Given the description of an element on the screen output the (x, y) to click on. 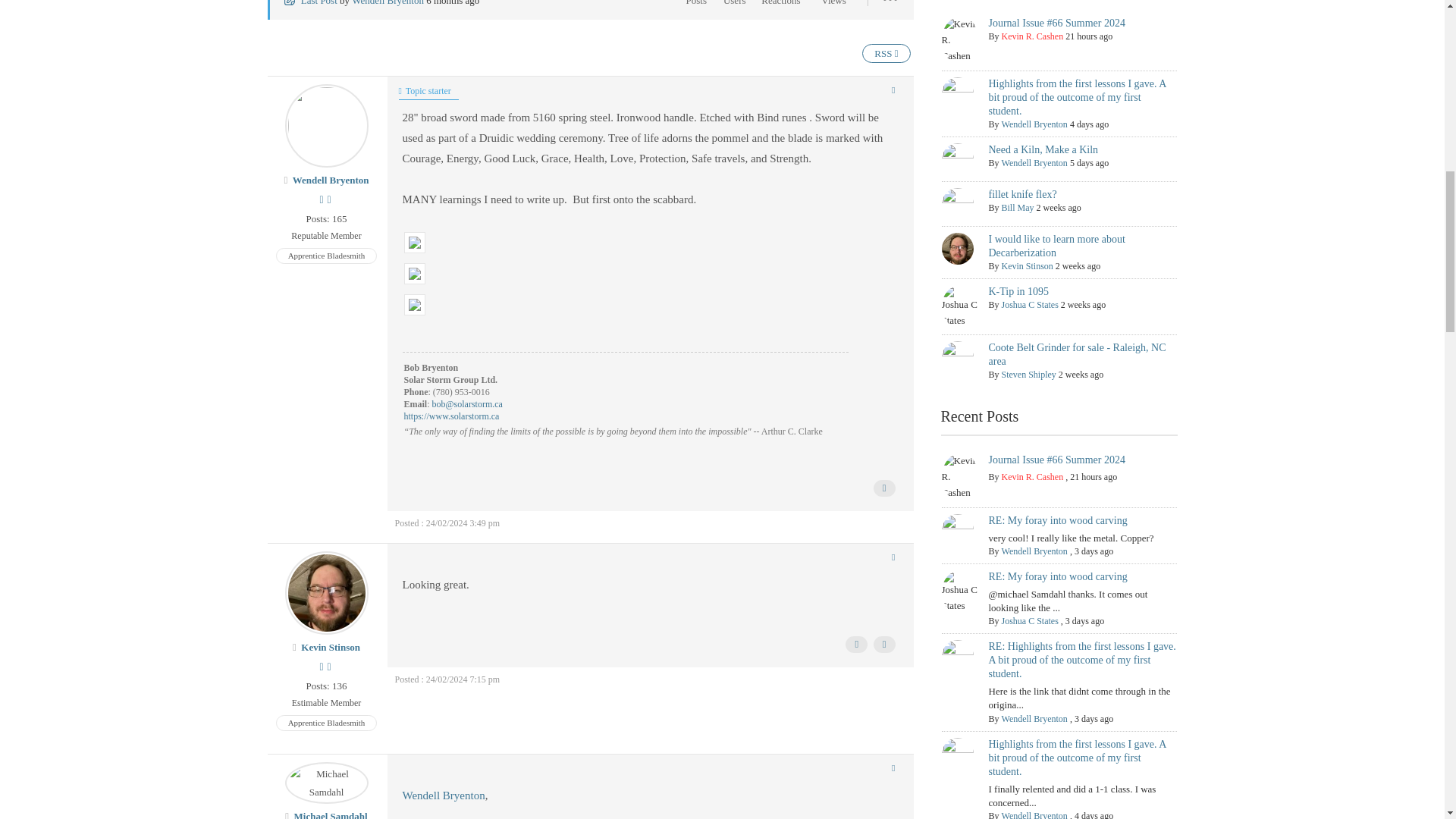
Usergroup (326, 255)
Wendell Bryenton (330, 179)
Rating Title (326, 236)
Topic RSS Feed (885, 53)
Wendell Bryenton (387, 2)
